Given the description of an element on the screen output the (x, y) to click on. 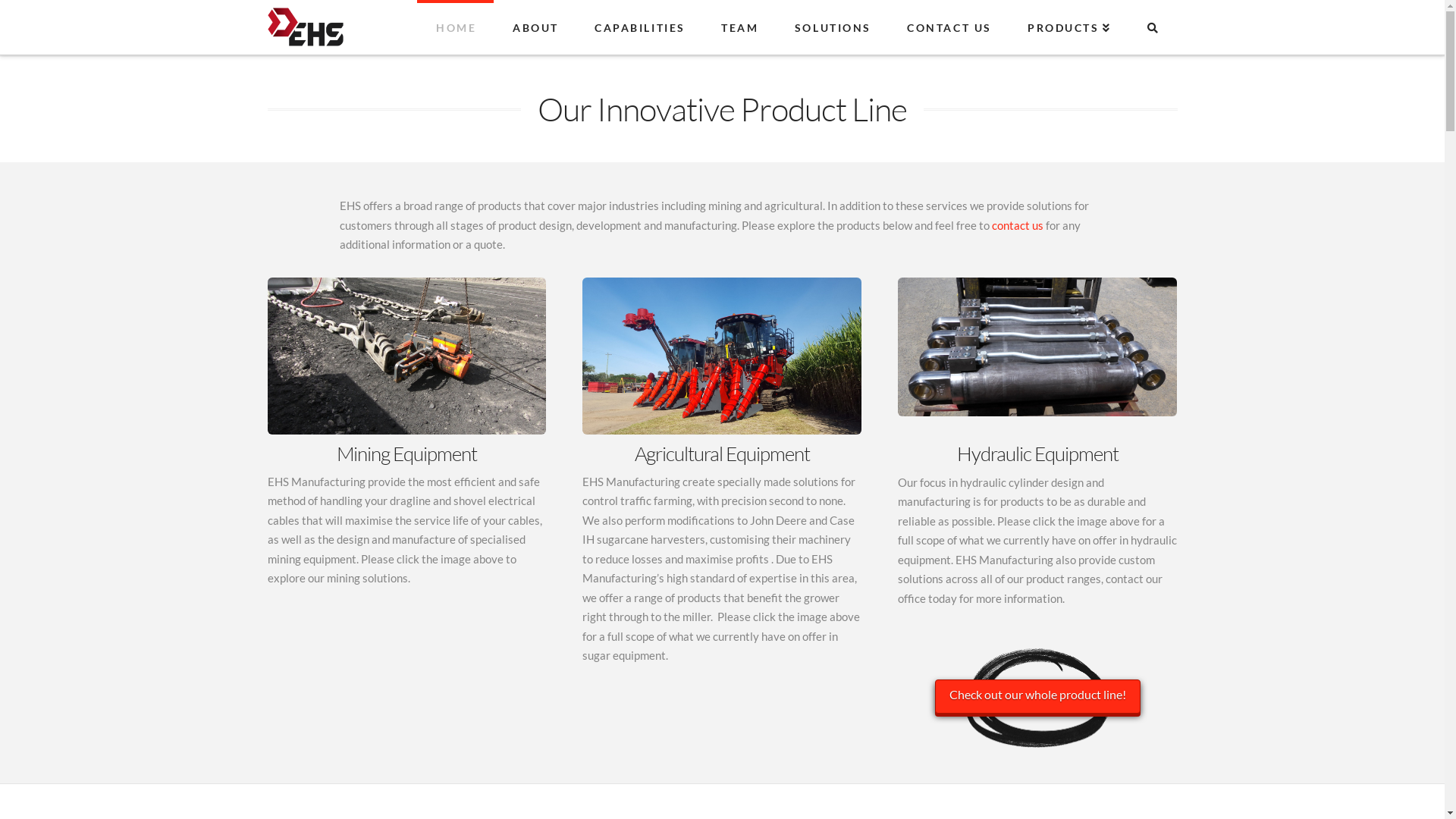
SOLUTIONS Element type: text (831, 27)
See More! Element type: hover (406, 355)
contact us Element type: text (1017, 225)
PRODUCTS Element type: text (1068, 27)
TEAM Element type: text (738, 27)
CAPABILITIES Element type: text (638, 27)
See More! Element type: hover (721, 355)
See More! Element type: hover (1036, 347)
CONTACT US Element type: text (948, 27)
HOME Element type: text (455, 27)
Check out our whole product line! Element type: text (1037, 696)
ABOUT Element type: text (534, 27)
